Given the description of an element on the screen output the (x, y) to click on. 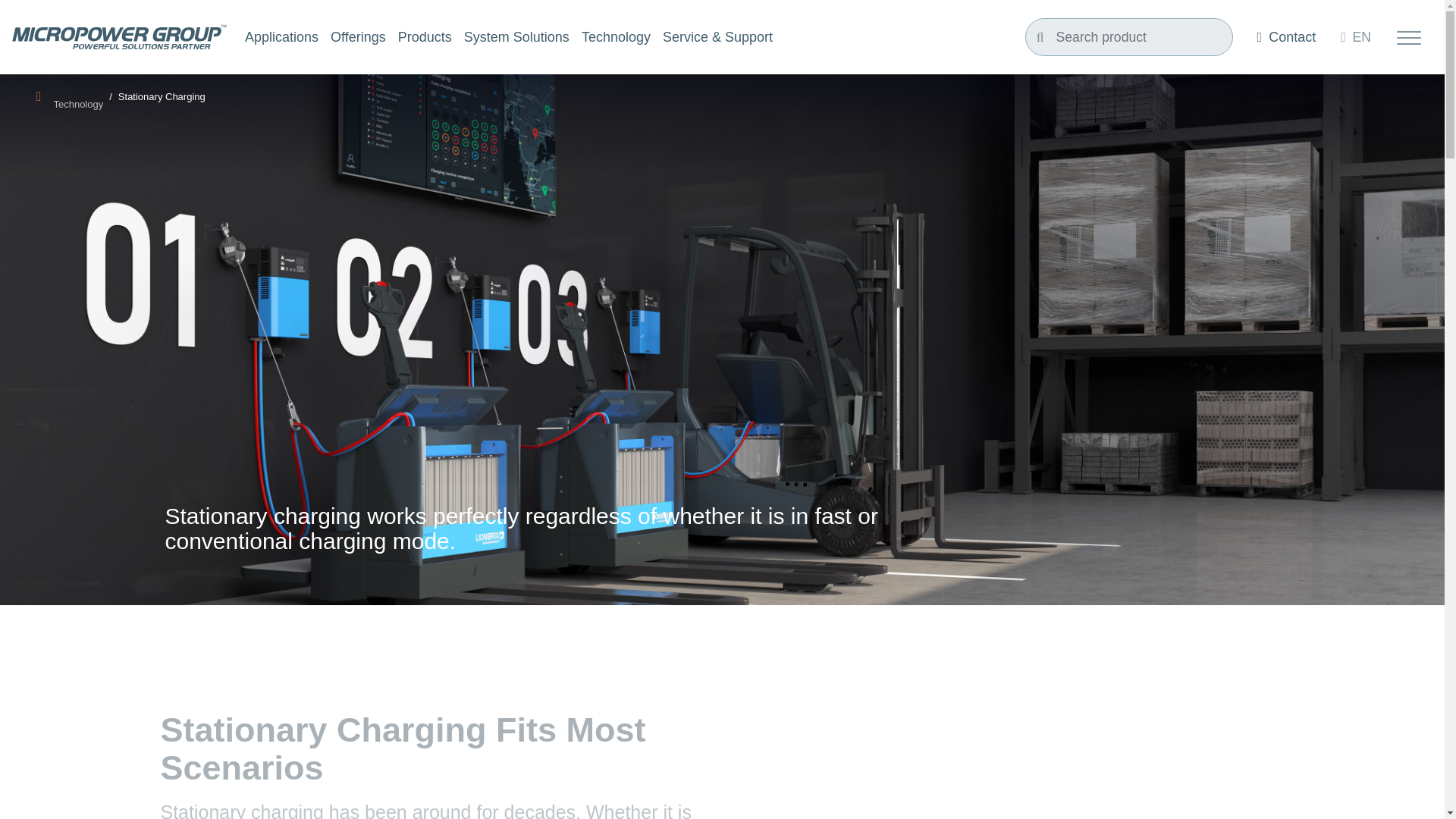
EN (1355, 36)
English (1355, 36)
orange line (289, 481)
Contact (1286, 36)
Offerings (357, 37)
Technology (615, 37)
Applications (281, 37)
Contact (1286, 36)
Micropower Group (119, 36)
System Solutions (516, 37)
